Given the description of an element on the screen output the (x, y) to click on. 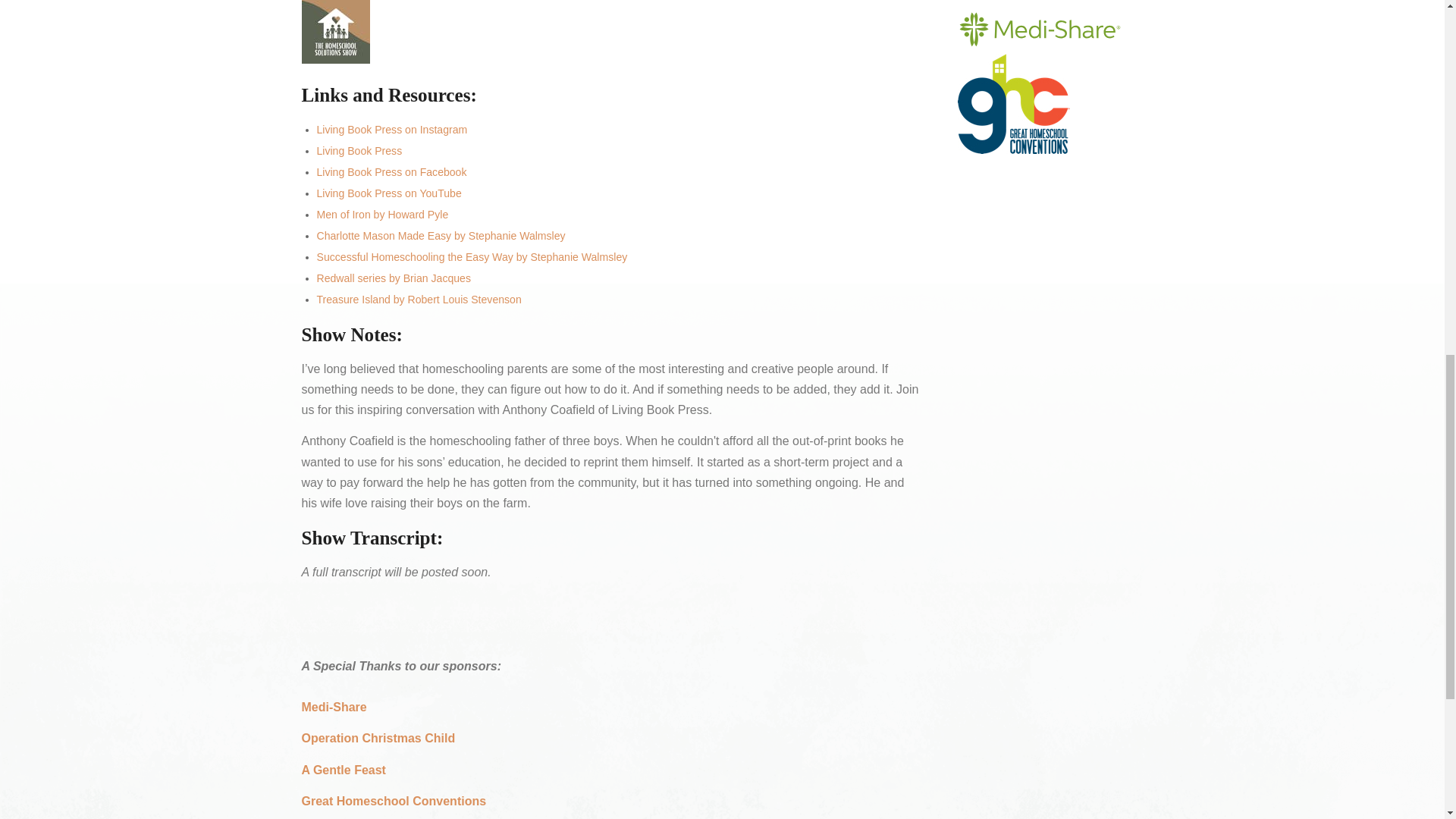
Successful Homeschooling the Easy Way by Stephanie Walmsley (472, 256)
A Gentle Feast (343, 769)
Living Book Press on Facebook (392, 172)
Treasure Island by Robert Louis Stevenson (419, 299)
Living Book Press on YouTube (389, 193)
Charlotte Mason Made Easy by Stephanie Walmsley (441, 235)
Men of Iron by Howard Pyle (382, 214)
Living Book Press (360, 150)
Medi-Share (333, 707)
Redwall series by Brian Jacques (393, 277)
Living Book Press on Instagram (392, 129)
Operation Christmas Child (378, 738)
Great Homeschool Conventions (393, 800)
